Given the description of an element on the screen output the (x, y) to click on. 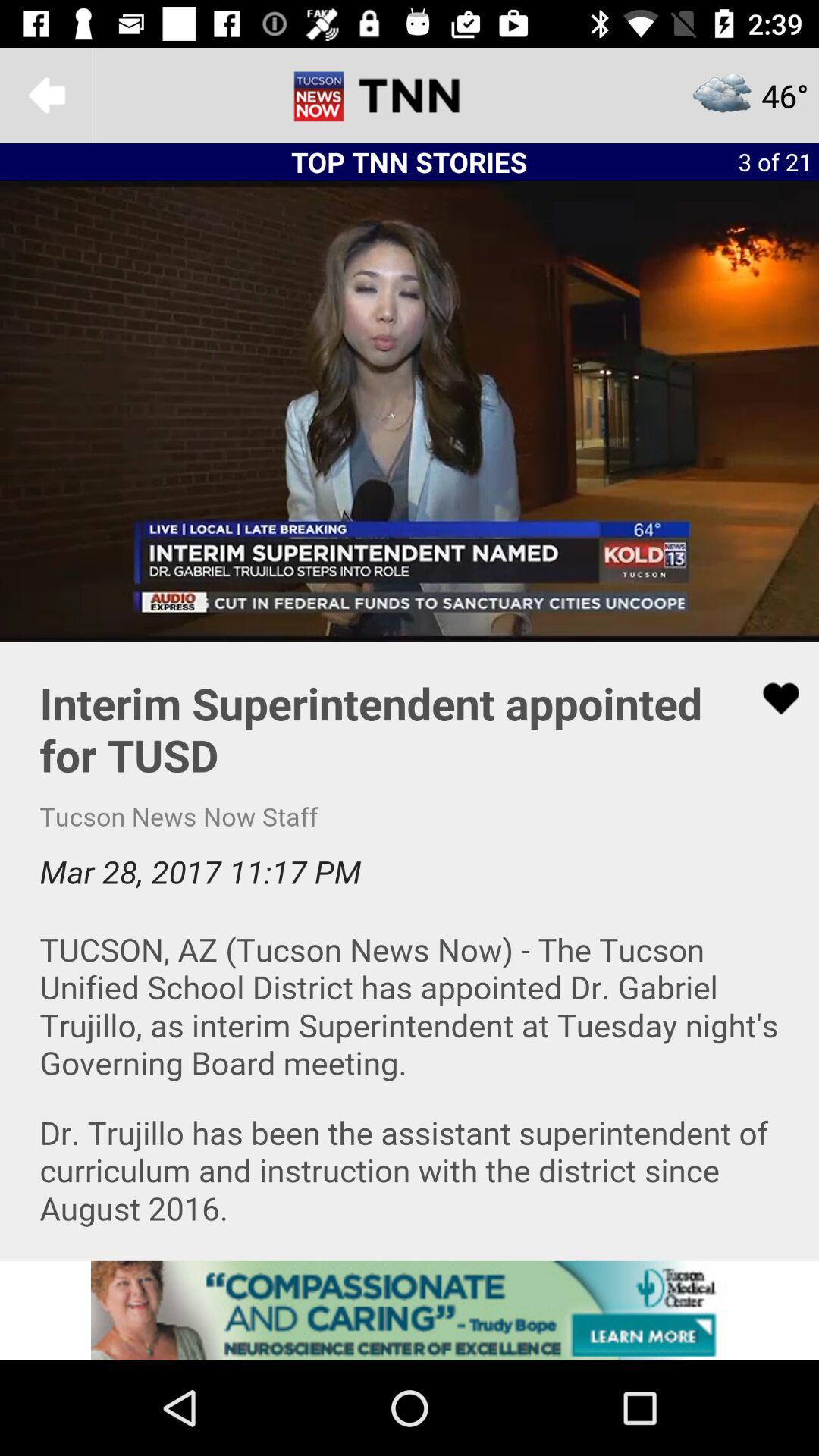
tnn home page (409, 95)
